Given the description of an element on the screen output the (x, y) to click on. 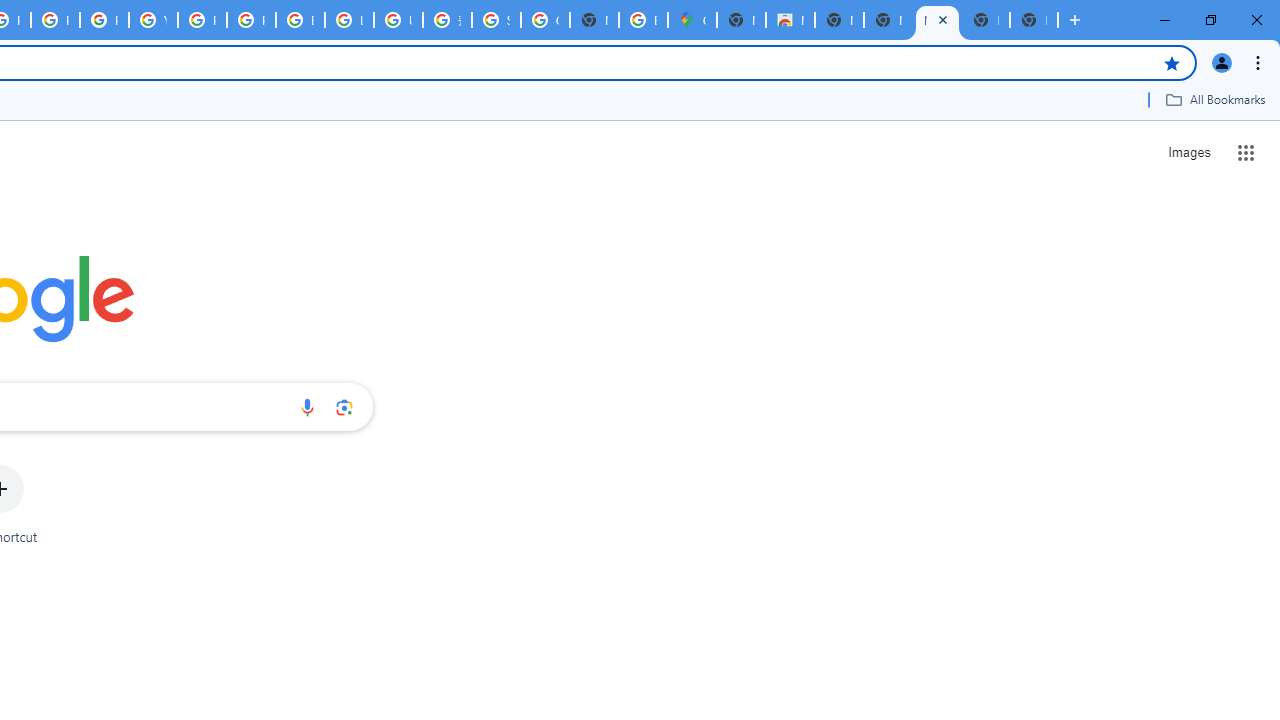
New Tab (740, 20)
Google Maps (692, 20)
Sign in - Google Accounts (496, 20)
Privacy Help Center - Policies Help (55, 20)
